Given the description of an element on the screen output the (x, y) to click on. 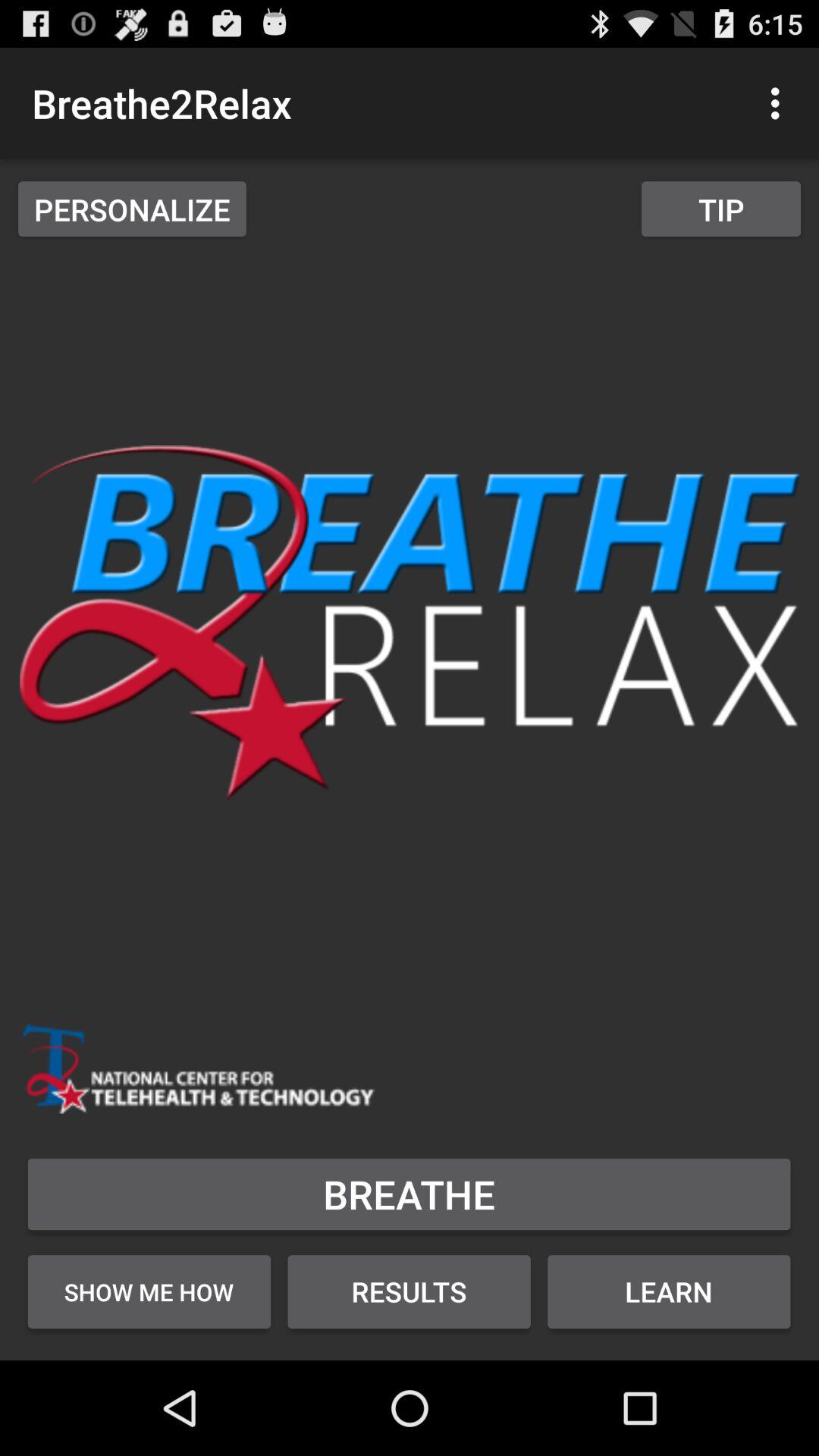
select personalize item (132, 208)
